Given the description of an element on the screen output the (x, y) to click on. 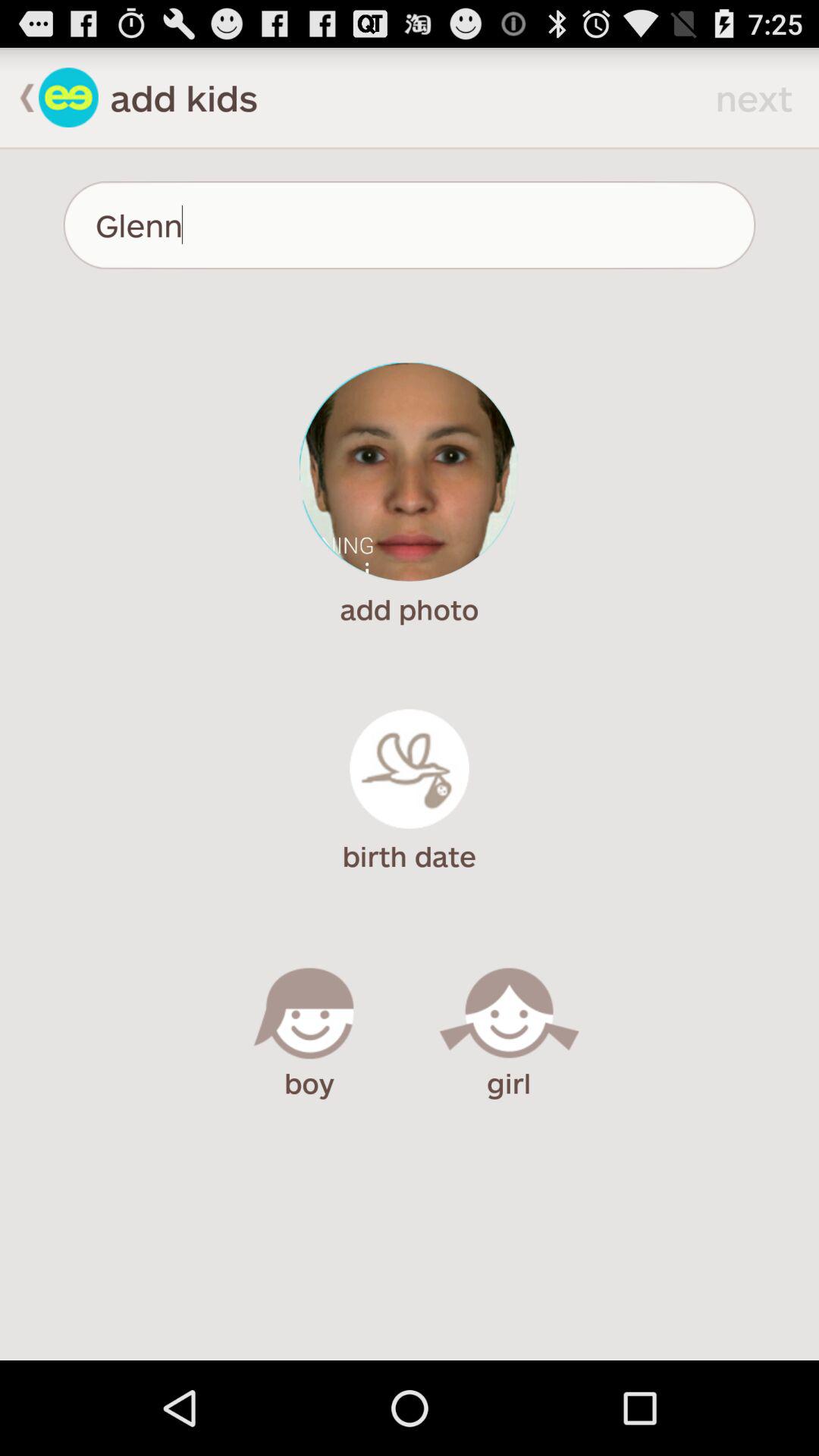
add profile picture (408, 471)
